Given the description of an element on the screen output the (x, y) to click on. 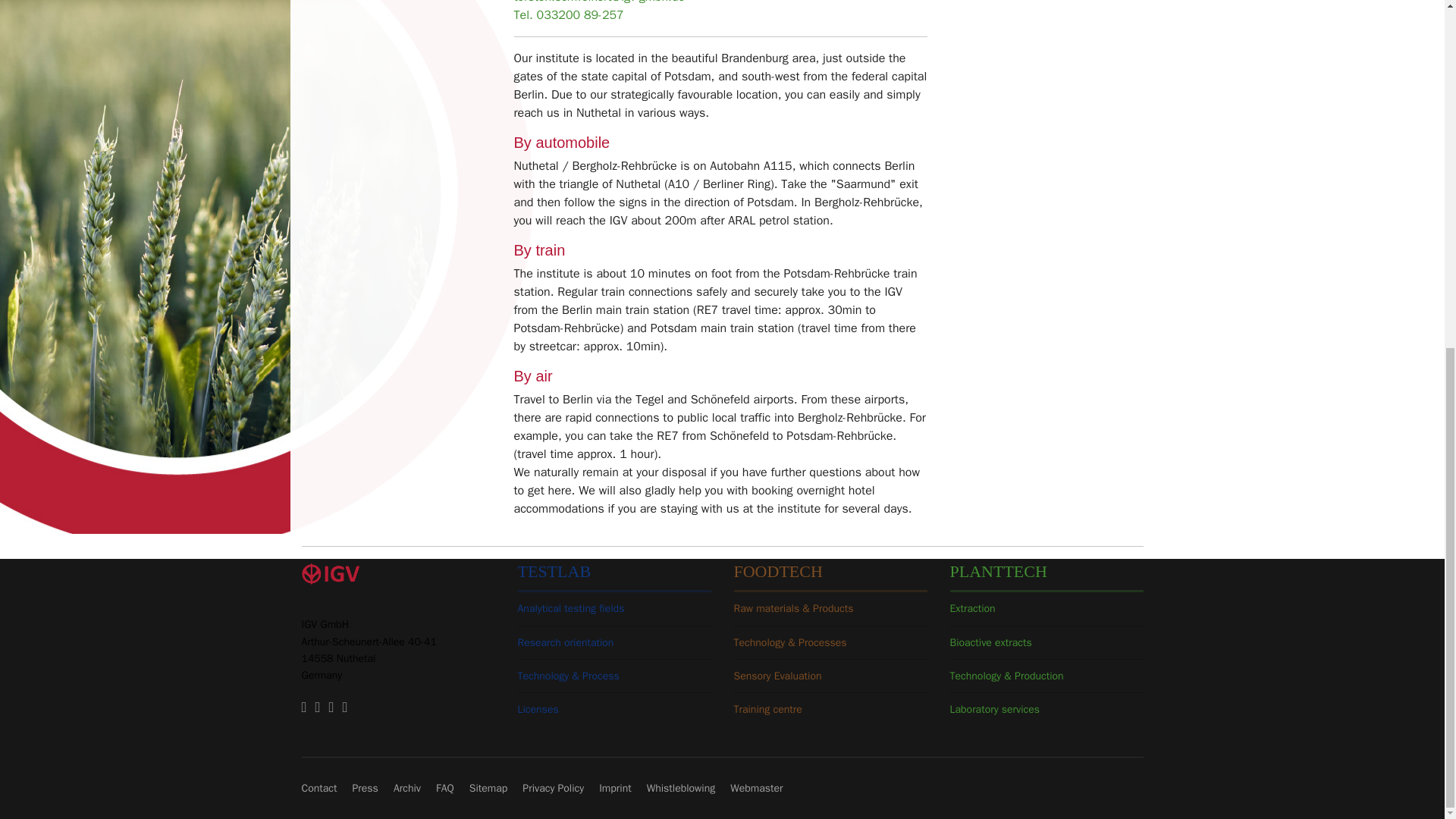
Laboratory services (994, 708)
Licenses (536, 708)
Extraction (971, 608)
PLANTTECH (997, 570)
FOODTECH (777, 570)
TESTLAB (553, 570)
Research orientation (564, 642)
Training centre (767, 708)
Bioactive extracts (989, 642)
Sensory Evaluation (777, 675)
Analytical testing fields (570, 608)
